Given the description of an element on the screen output the (x, y) to click on. 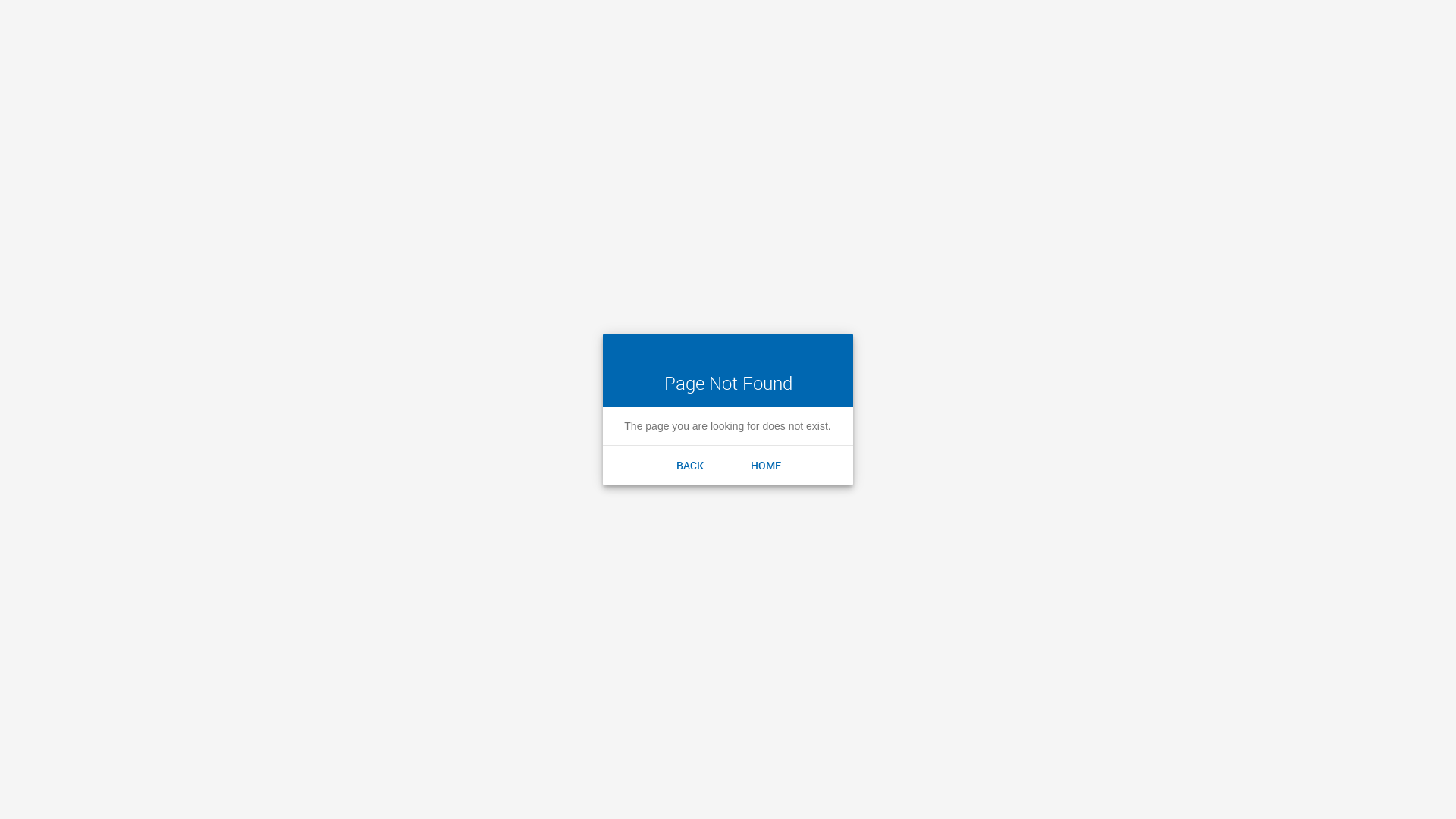
HOME Element type: text (765, 465)
BACK Element type: text (689, 465)
